Given the description of an element on the screen output the (x, y) to click on. 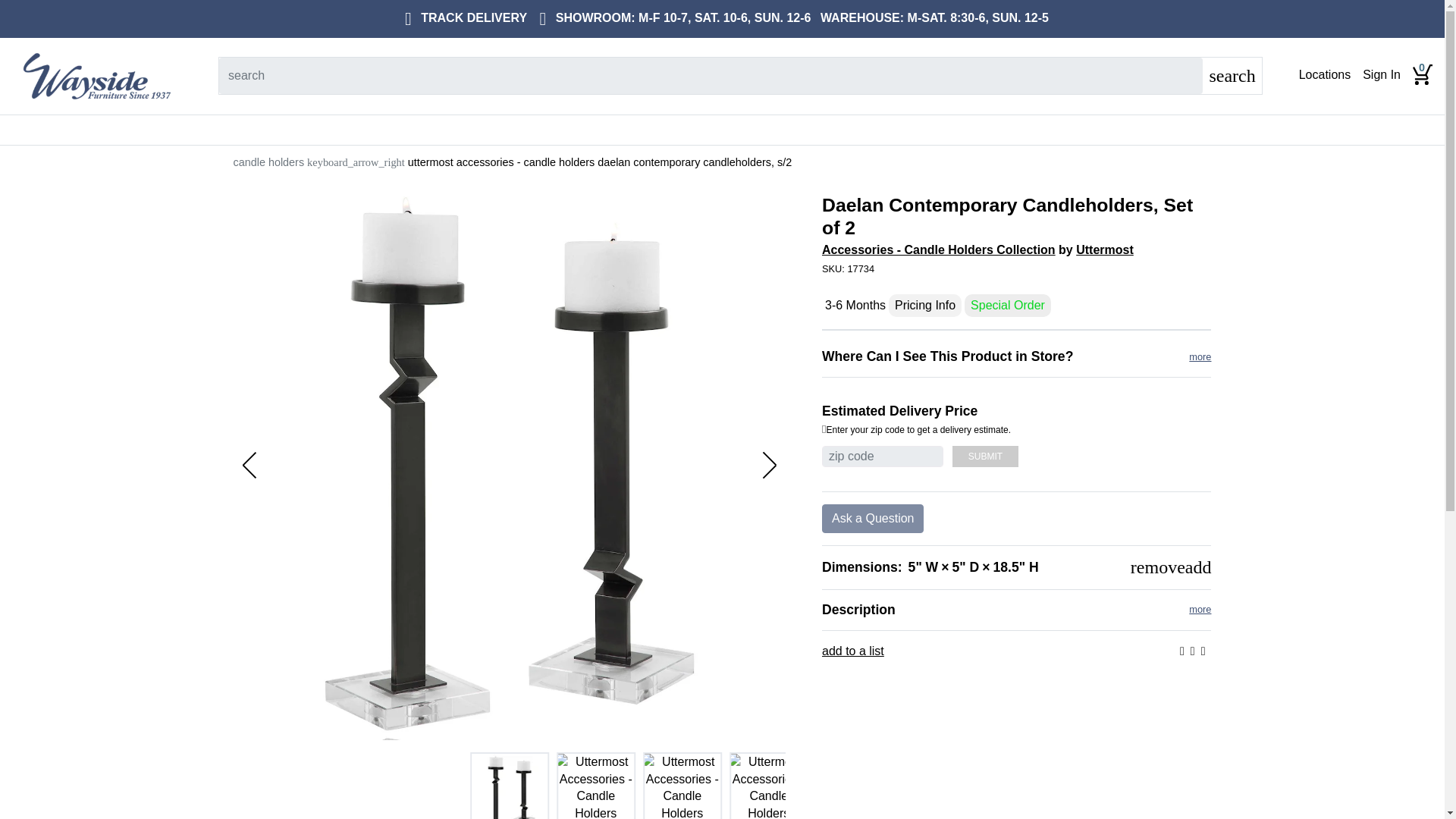
TRACK DELIVERY (463, 17)
add to a list (852, 651)
SUBMIT (984, 455)
Locations (1324, 74)
17734 (1016, 269)
Ask a Question (873, 518)
candle holders (268, 161)
Accessories - Candle Holders Collection (938, 249)
SHOWROOM: M-F 10-7, SAT. 10-6, SUN. 12-6 (672, 17)
Uttermost (1104, 249)
WAREHOUSE: M-SAT. 8:30-6, SUN. 12-5 (930, 17)
Sign In (1381, 74)
